Given the description of an element on the screen output the (x, y) to click on. 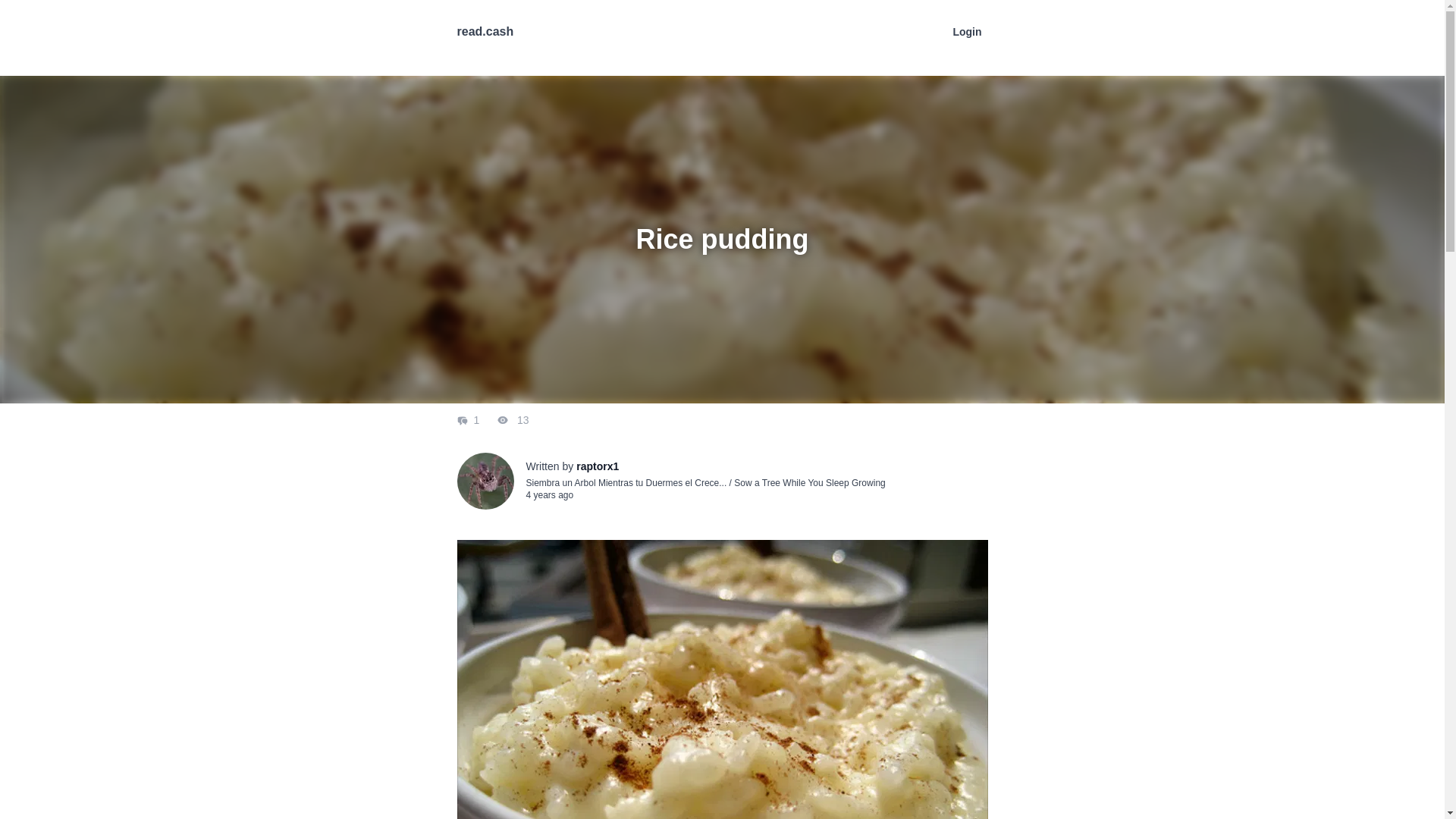
read.cash (485, 31)
Number of people who saw the article or submission (504, 419)
1 (469, 419)
raptorx1 (597, 465)
2020-05-26 14:46:53 (549, 494)
Login (966, 31)
